Given the description of an element on the screen output the (x, y) to click on. 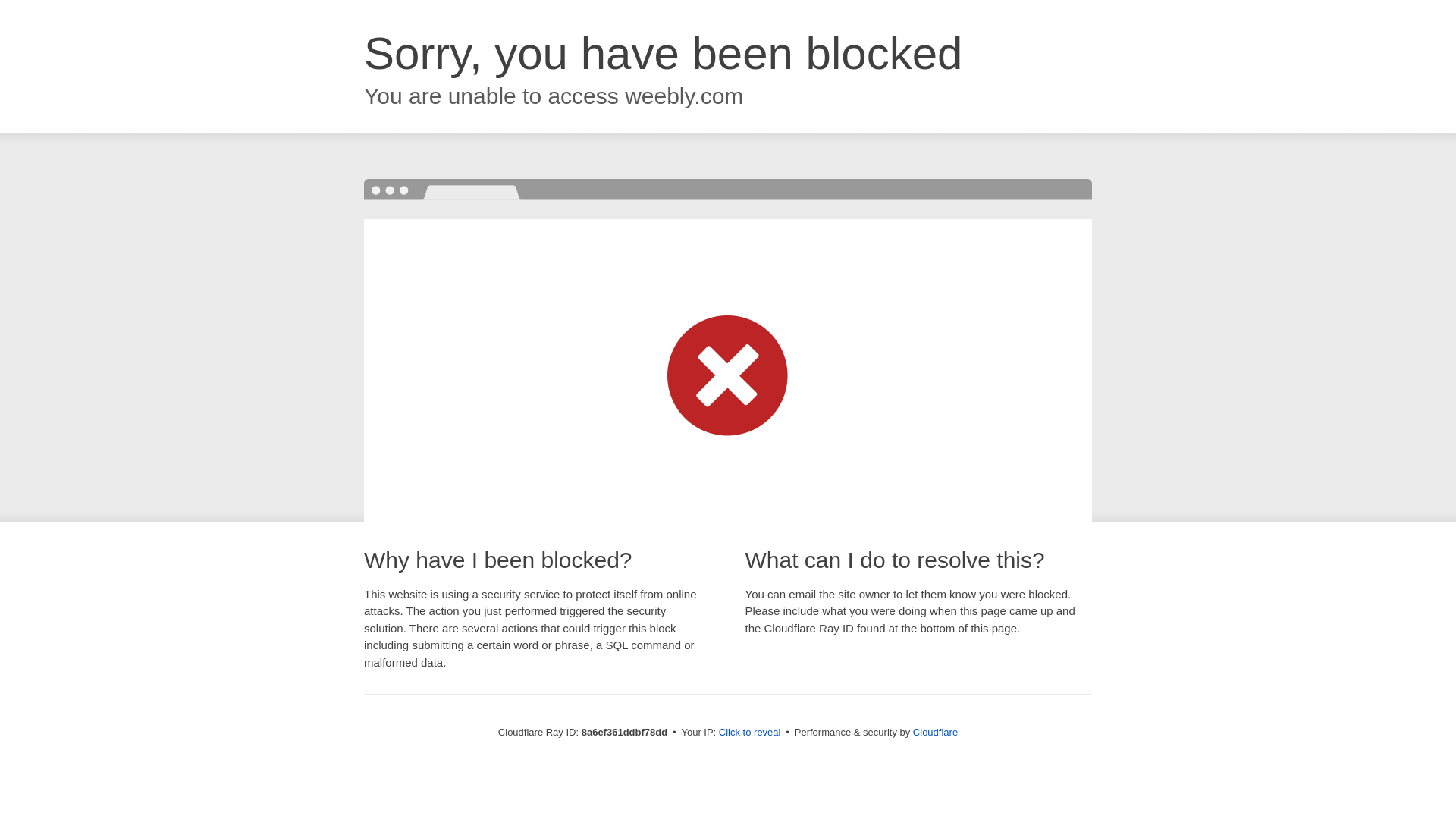
Click to reveal (749, 732)
Cloudflare (935, 731)
